Given the description of an element on the screen output the (x, y) to click on. 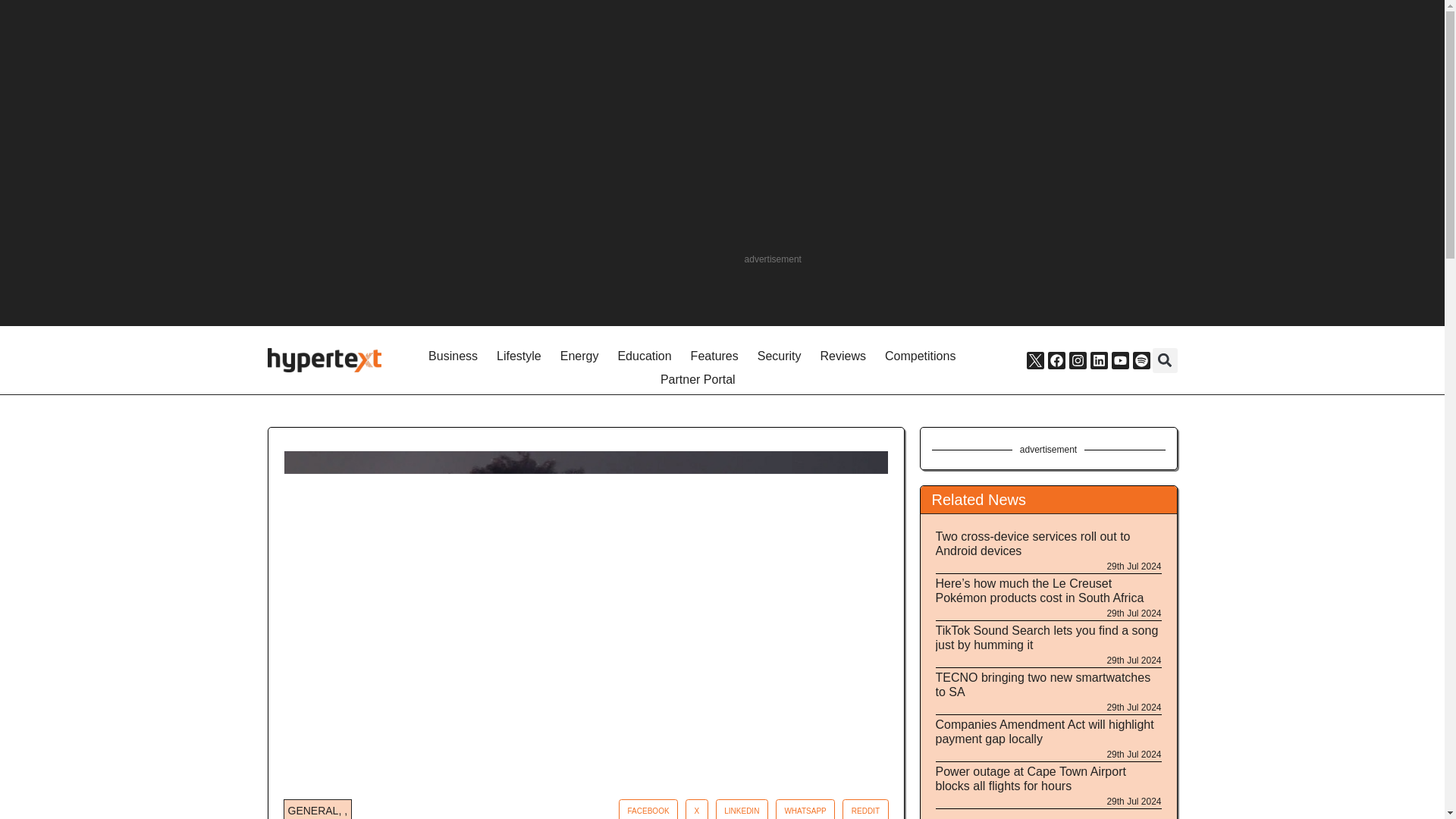
Competitions (919, 356)
Partner Portal (697, 380)
Lifestyle (518, 356)
Security (779, 356)
Reviews (842, 356)
Education (643, 356)
Business (453, 356)
Energy (579, 356)
GENERAL (313, 810)
Features (714, 356)
